Given the description of an element on the screen output the (x, y) to click on. 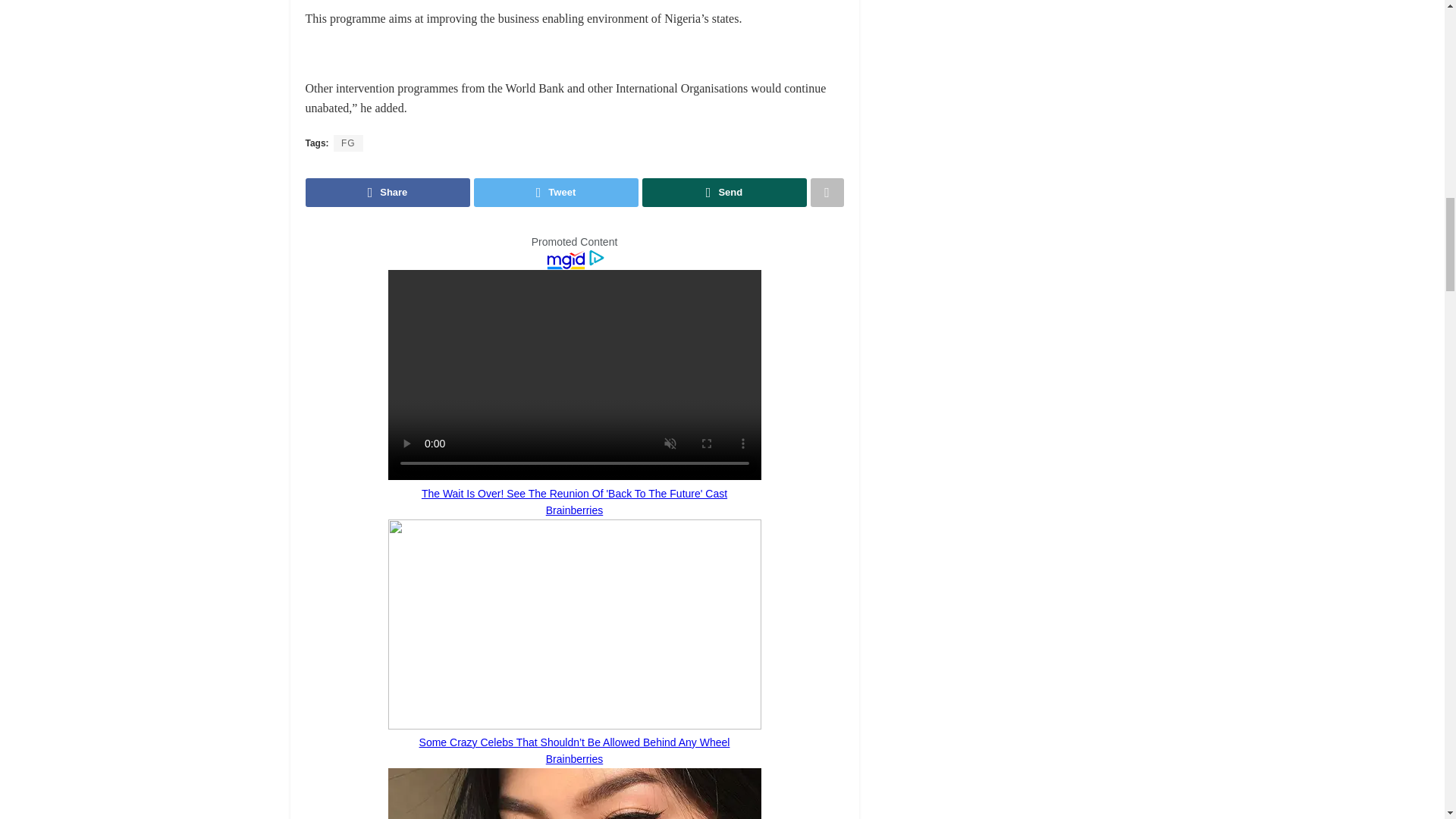
Send (724, 192)
FG (347, 143)
Tweet (555, 192)
Share (386, 192)
